Given the description of an element on the screen output the (x, y) to click on. 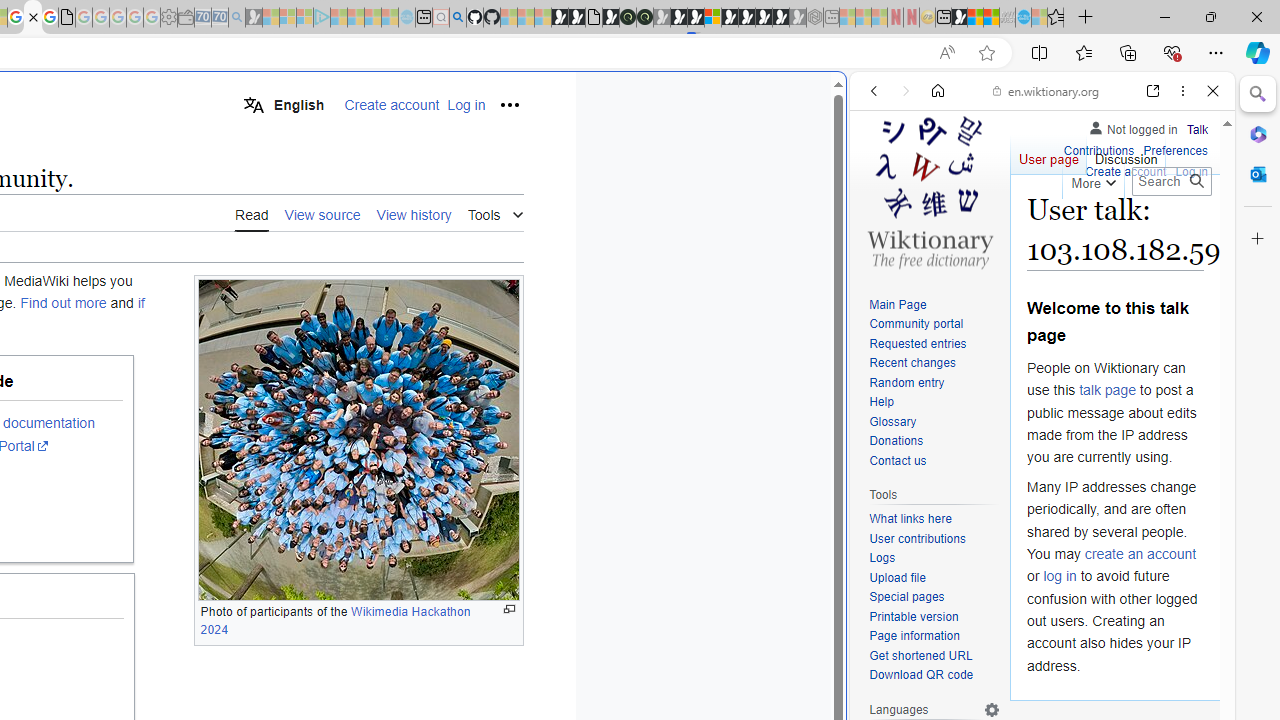
View source (322, 214)
Donations (896, 441)
Glossary (934, 421)
Log in (1191, 169)
Logs (934, 558)
